Given the description of an element on the screen output the (x, y) to click on. 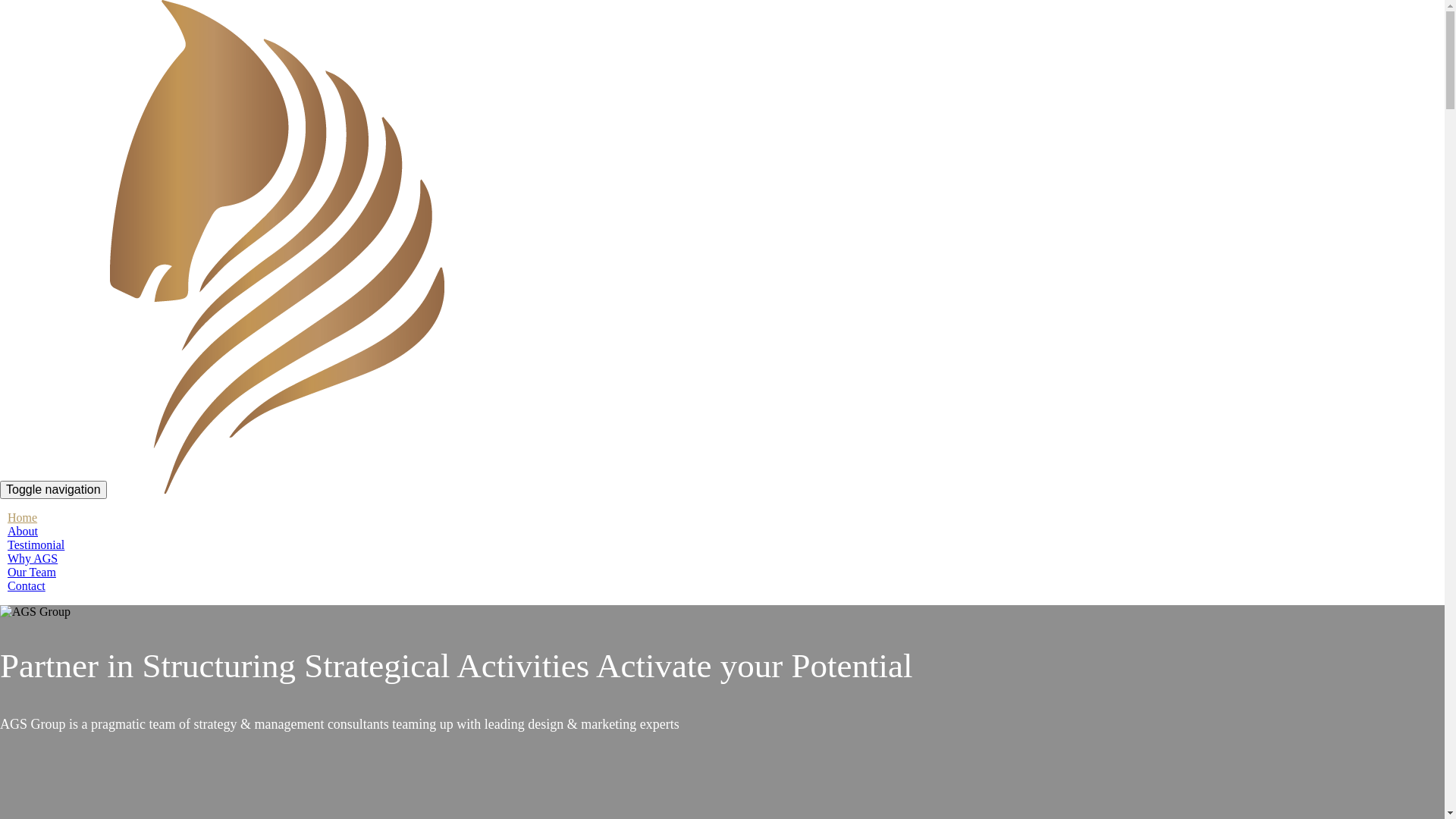
Testimonial Element type: text (35, 544)
About Element type: text (22, 530)
Home Element type: text (22, 517)
Our Team Element type: text (31, 571)
Why AGS Element type: text (32, 558)
Contact Element type: text (26, 585)
Toggle navigation Element type: text (53, 489)
